Given the description of an element on the screen output the (x, y) to click on. 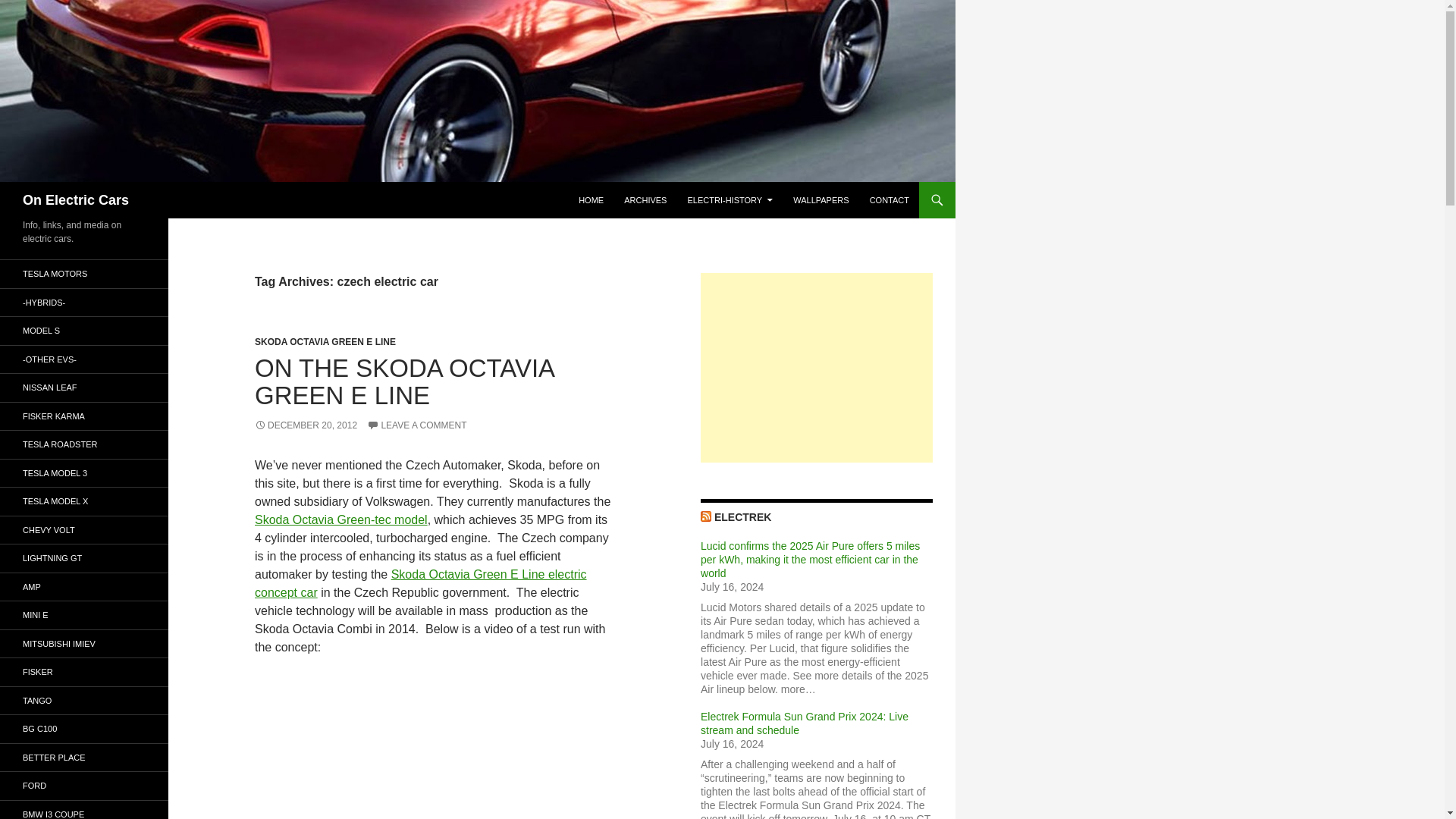
SKODA OCTAVIA GREEN E LINE (325, 341)
ELECTREK (742, 517)
HOME (590, 199)
ARCHIVES (644, 199)
Advertisement (816, 367)
On Electric Cars (76, 199)
Skoda Octavia Green-tec model (341, 519)
LEAVE A COMMENT (415, 425)
ELECTRI-HISTORY (730, 199)
WALLPAPERS (820, 199)
CONTACT (889, 199)
